Given the description of an element on the screen output the (x, y) to click on. 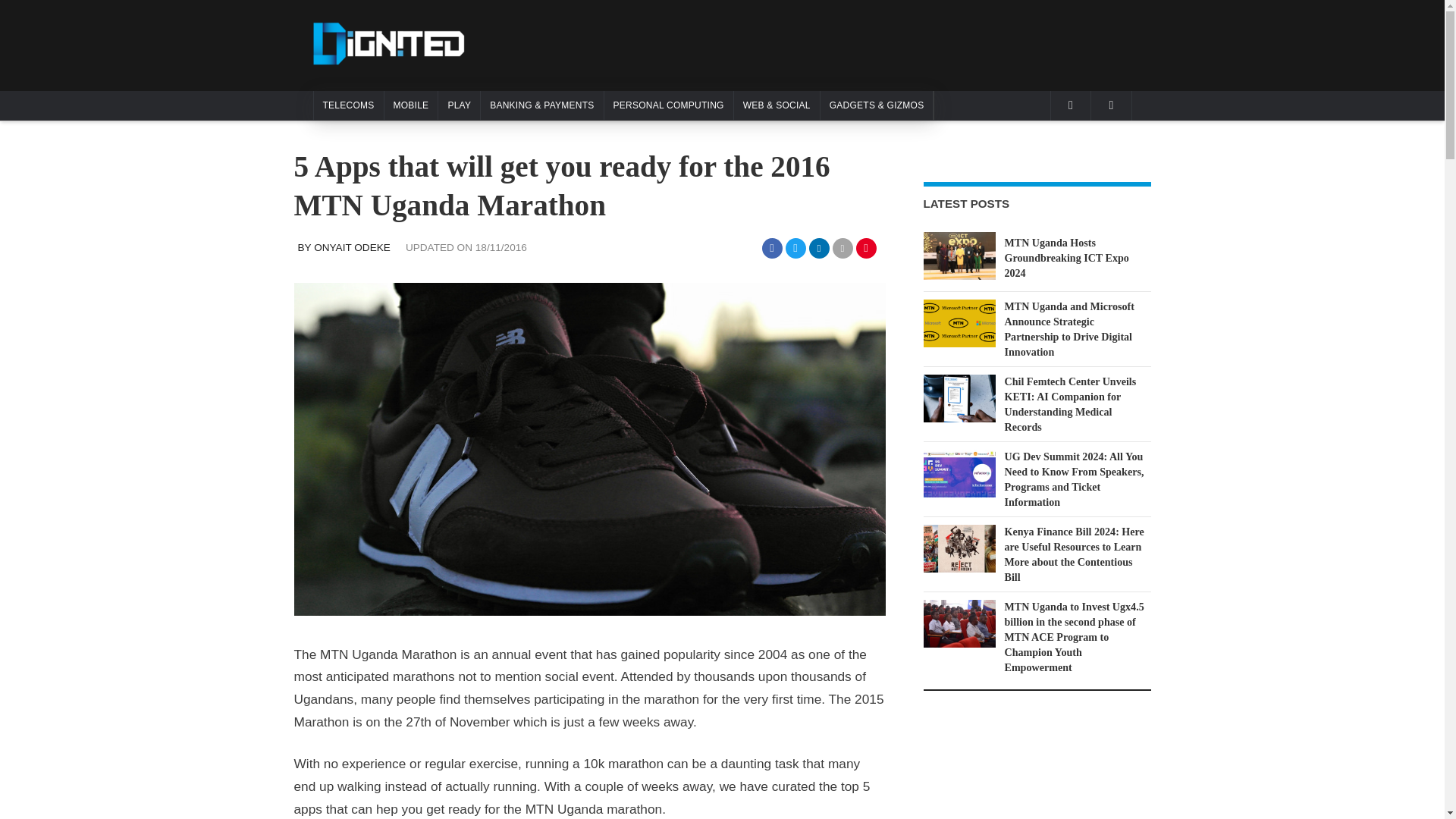
Share by Email (842, 248)
